Given the description of an element on the screen output the (x, y) to click on. 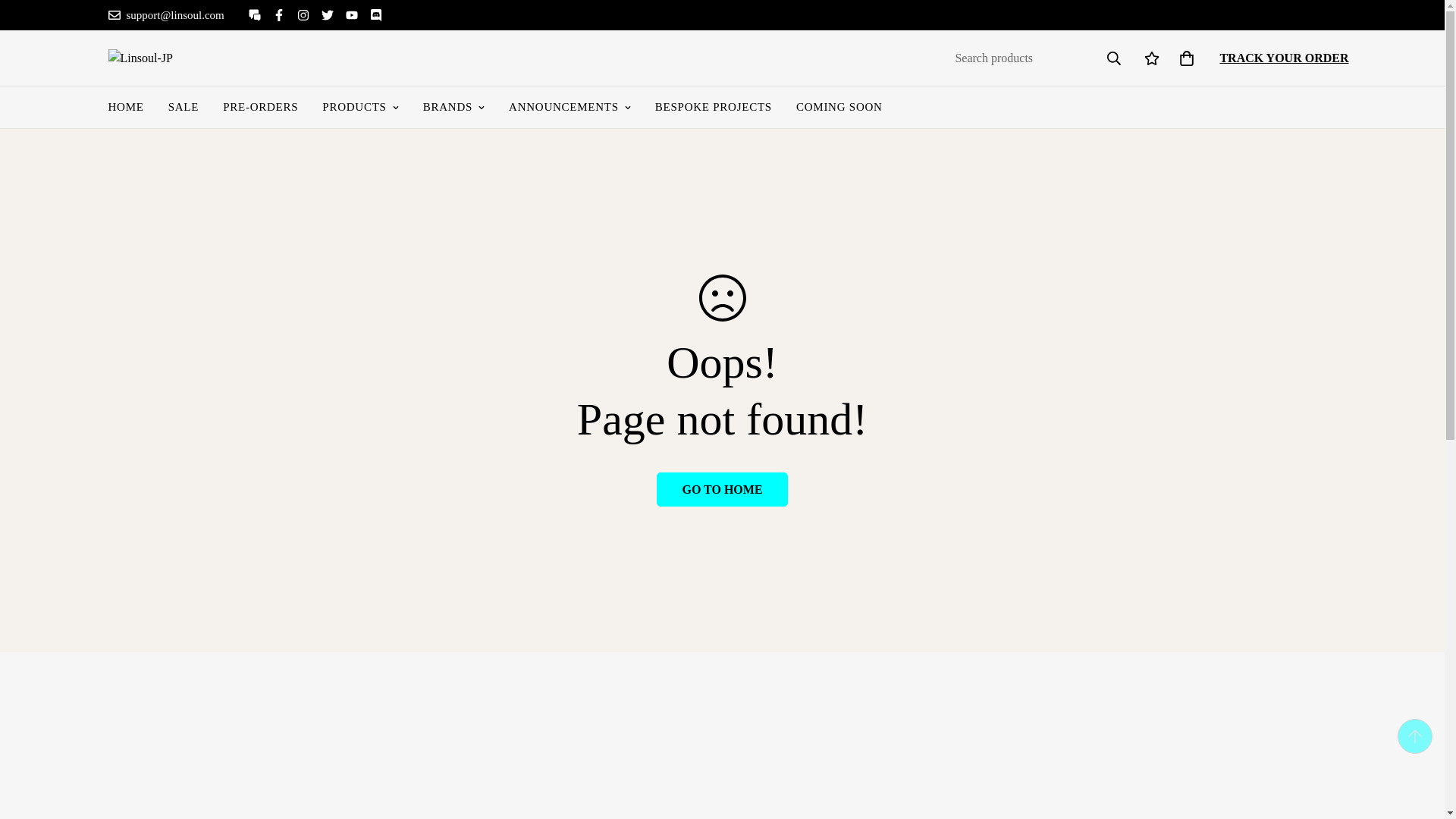
Linsoul-JP (161, 58)
